Given the description of an element on the screen output the (x, y) to click on. 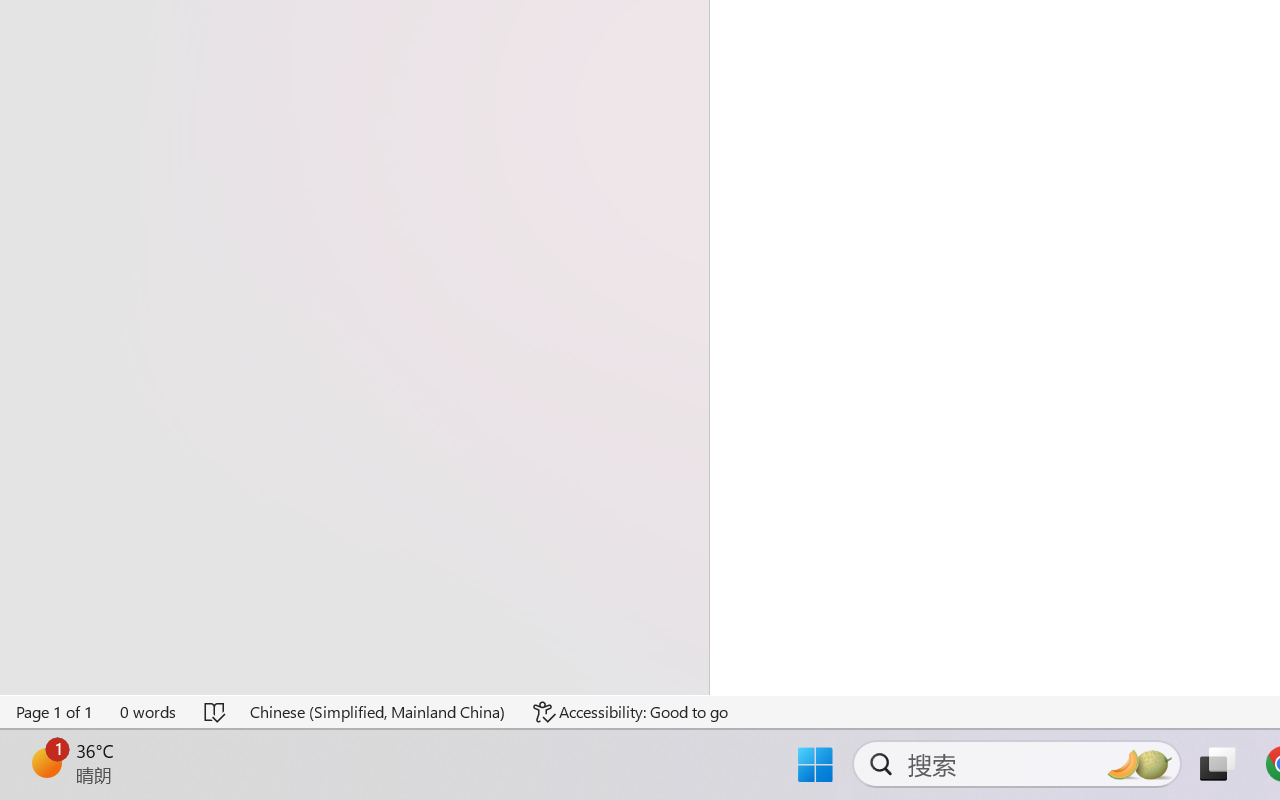
Language Chinese (Simplified, Mainland China) (378, 712)
